Given the description of an element on the screen output the (x, y) to click on. 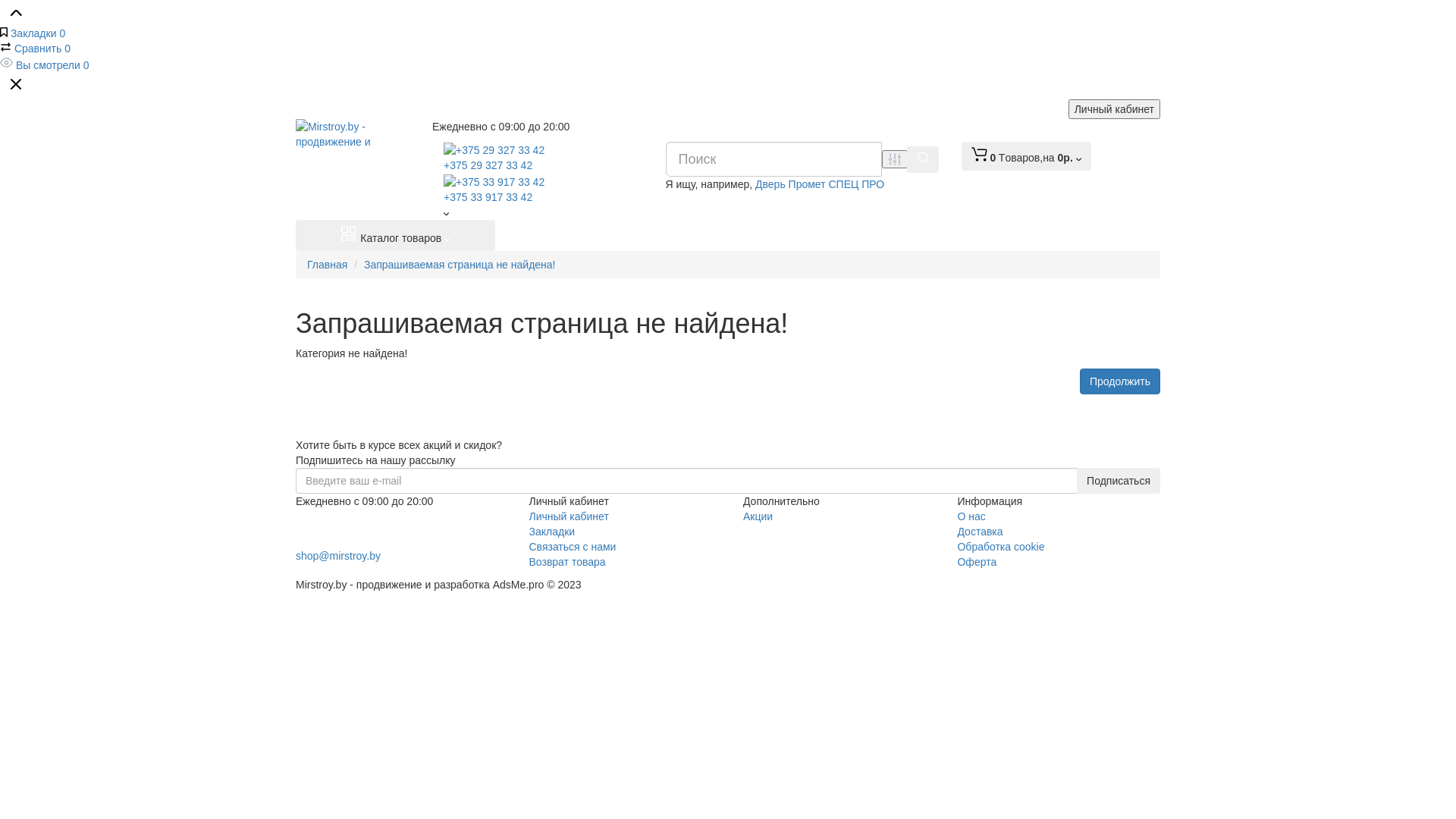
+375 29 327 33 42 Element type: text (543, 156)
shop@mirstroy.by Element type: text (337, 555)
+375 33 917 33 42 Element type: text (543, 187)
+375 29 327 33 42 Element type: text (352, 518)
+375 33 917 33 42 Element type: text (352, 538)
